Given the description of an element on the screen output the (x, y) to click on. 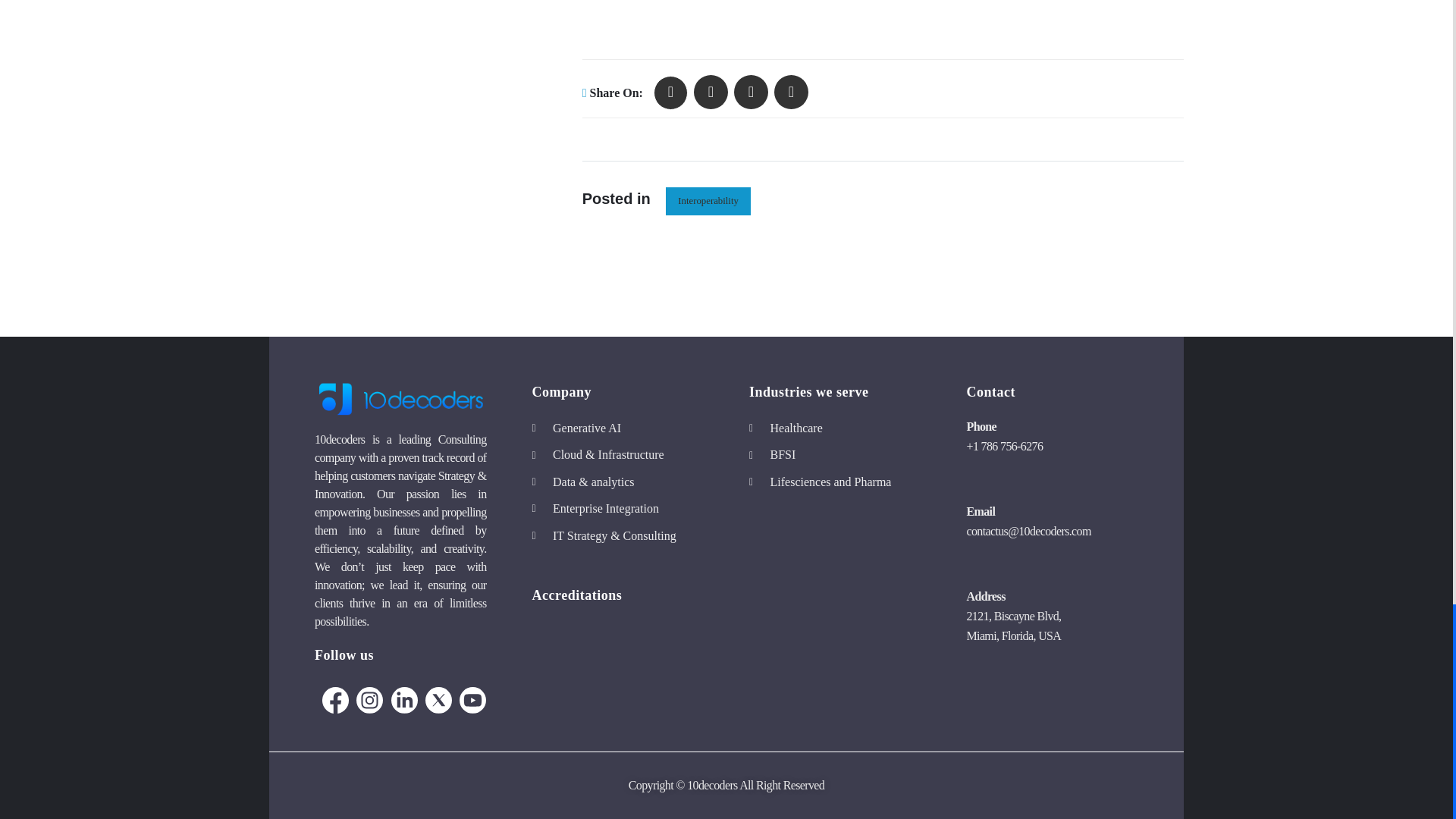
Share on Facebook (711, 91)
Share on Twitter (670, 92)
Share on Email (791, 91)
Share on LinkedIn (750, 91)
